Given the description of an element on the screen output the (x, y) to click on. 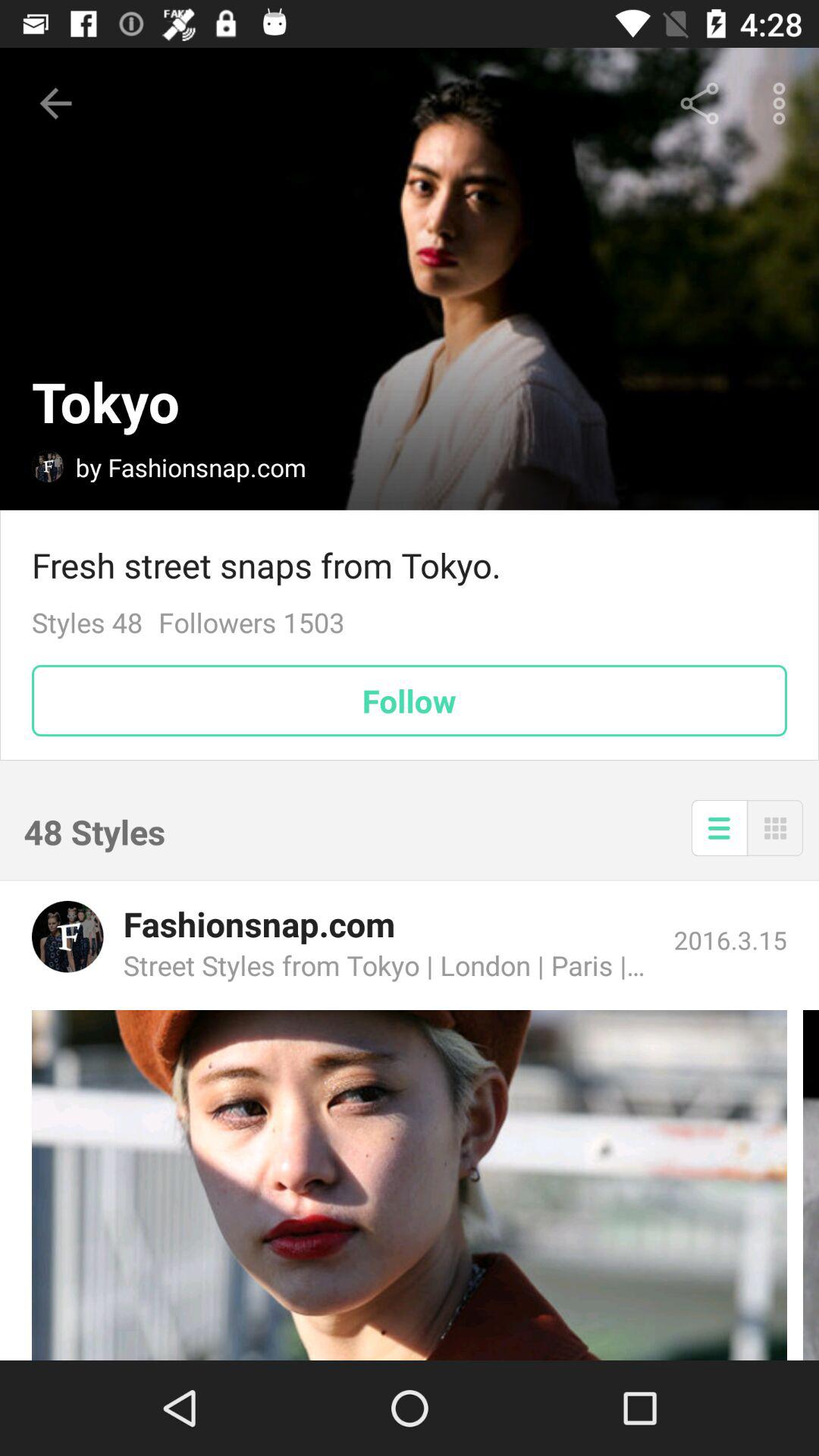
tap the icon to the right of the 48 styles (718, 827)
